Given the description of an element on the screen output the (x, y) to click on. 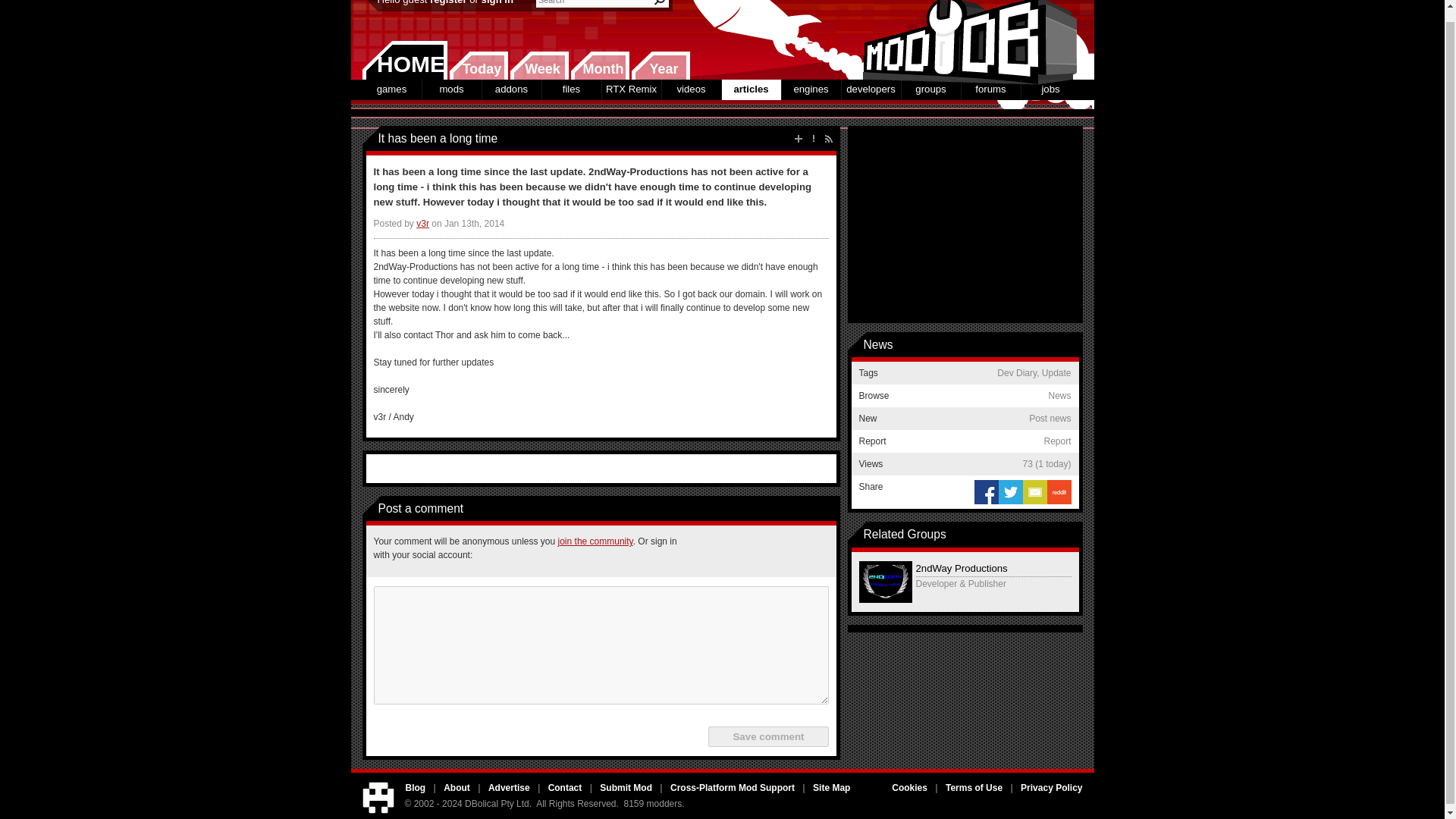
Click to connect via Google (776, 551)
RSS (828, 138)
Year (660, 65)
HOME (405, 59)
Week (539, 65)
Click to connect via Twitter (739, 551)
Search (660, 3)
videos (690, 89)
mods (451, 89)
files (570, 89)
